Given the description of an element on the screen output the (x, y) to click on. 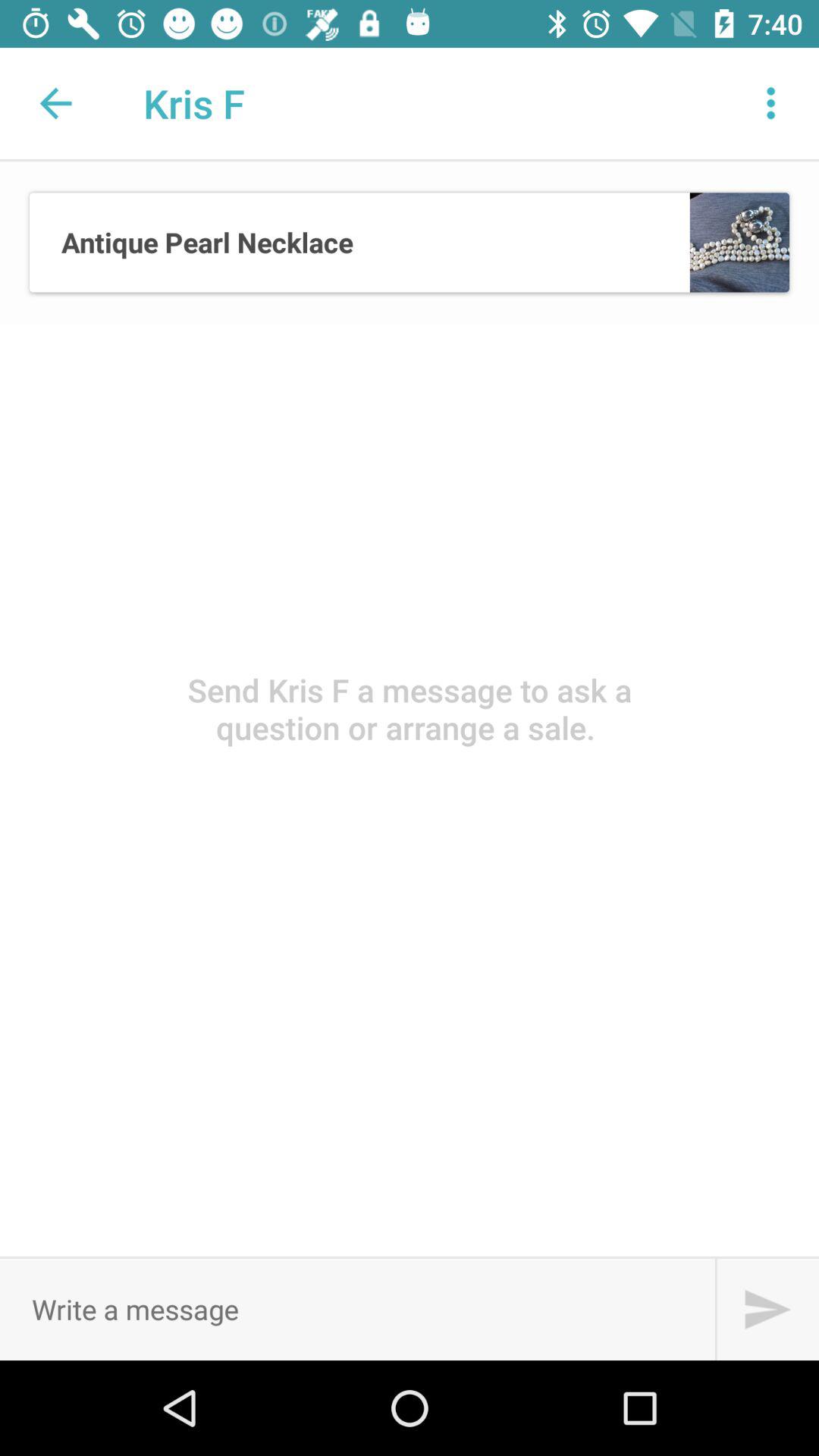
view options (771, 103)
